Given the description of an element on the screen output the (x, y) to click on. 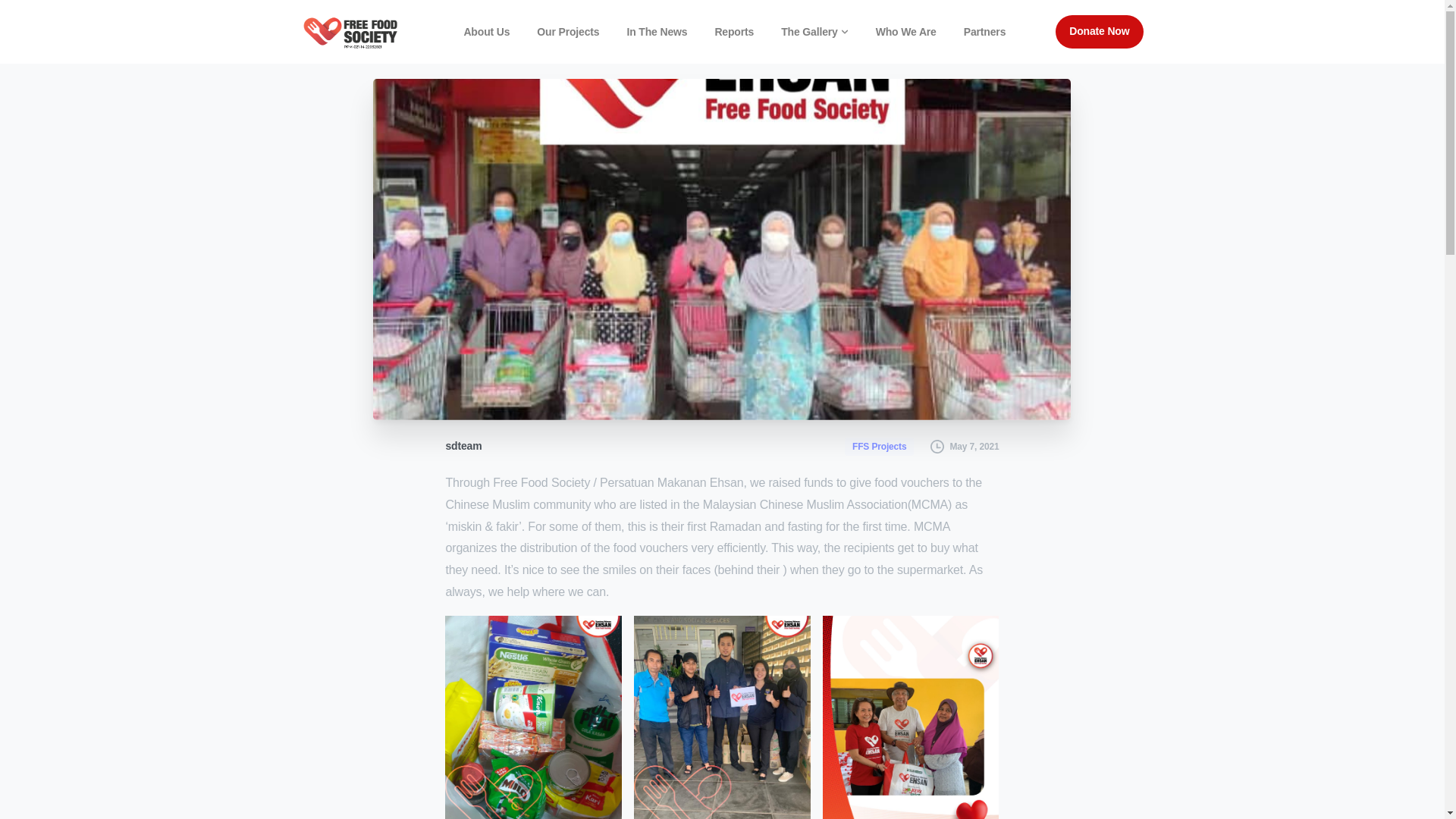
Reports (733, 32)
The Gallery (814, 32)
Who We Are (905, 32)
About Us (486, 32)
Donate Now (1098, 31)
The Gallery (814, 32)
Partners (984, 32)
FFS Projects (880, 445)
In The News (656, 32)
